Given the description of an element on the screen output the (x, y) to click on. 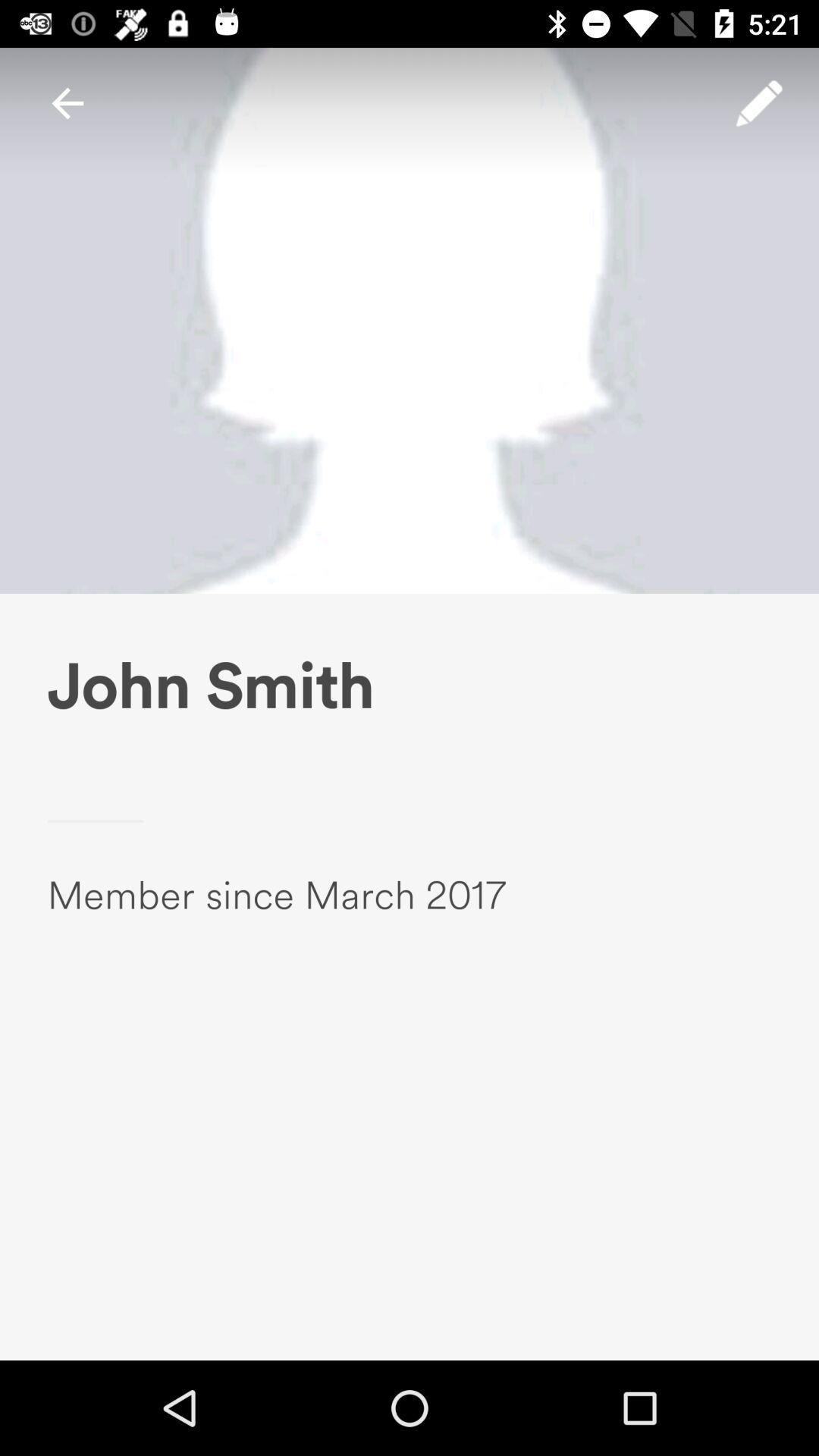
select icon at the top left corner (67, 103)
